Given the description of an element on the screen output the (x, y) to click on. 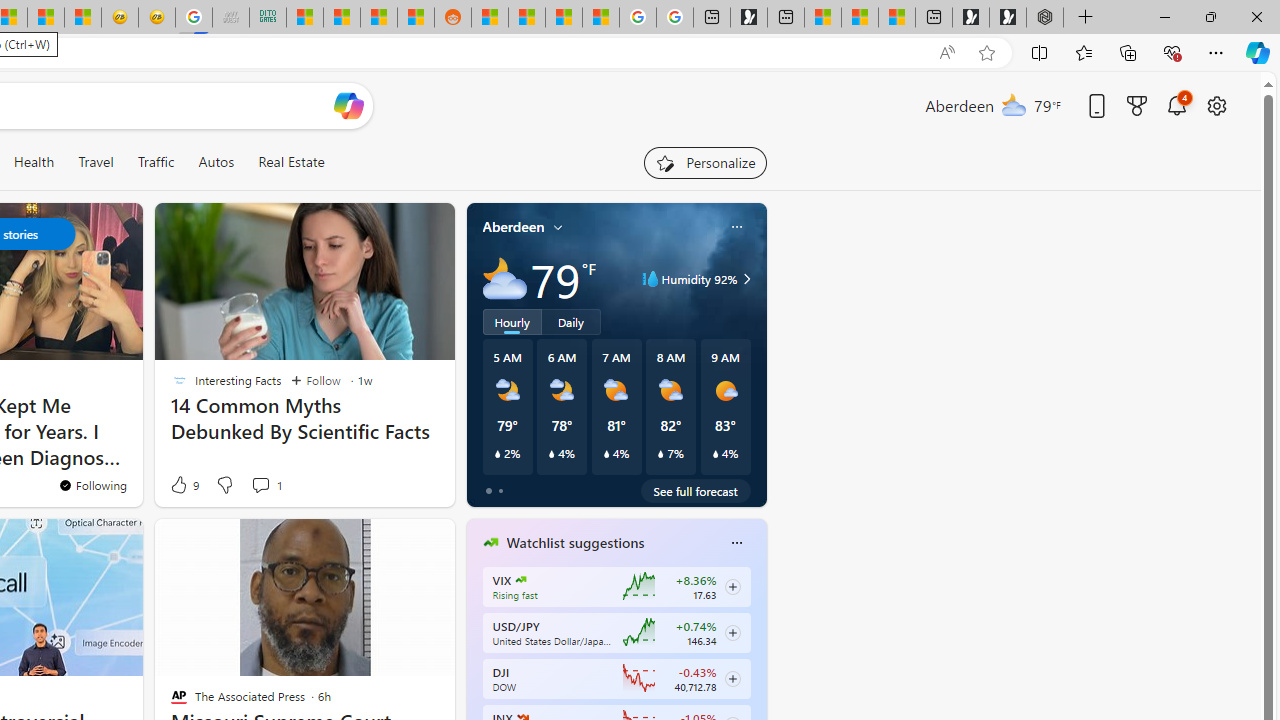
Daily (571, 321)
Mostly cloudy (504, 278)
View comments 1 Comment (260, 485)
Hourly (511, 321)
R******* | Trusted Community Engagement and Contributions (490, 17)
Hide this story (201, 542)
Mostly cloudy (504, 278)
